Given the description of an element on the screen output the (x, y) to click on. 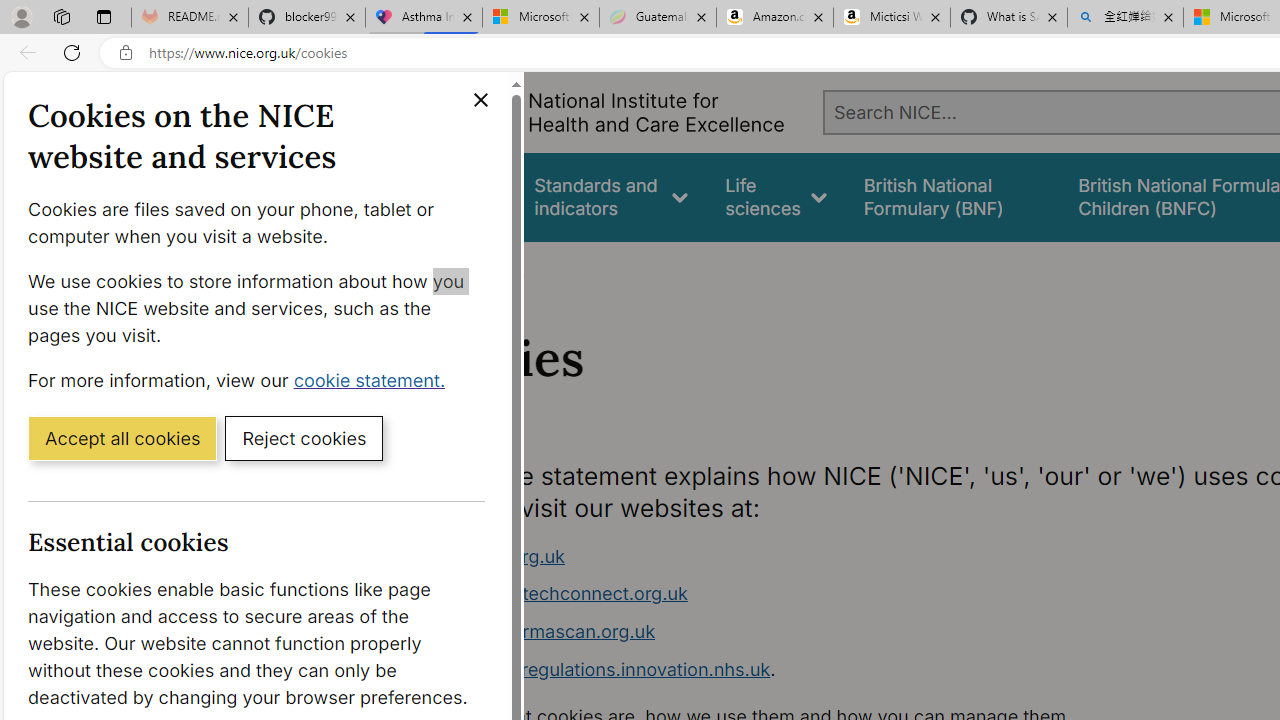
www.healthtechconnect.org.uk (796, 594)
www.digitalregulations.innovation.nhs.uk (595, 668)
Reject cookies (304, 437)
Asthma Inhalers: Names and Types (424, 17)
Home> (433, 268)
www.nice.org.uk (492, 556)
Life sciences (776, 196)
Guidance (458, 196)
Guidance (458, 196)
www.digitalregulations.innovation.nhs.uk. (796, 669)
Home (424, 268)
